Given the description of an element on the screen output the (x, y) to click on. 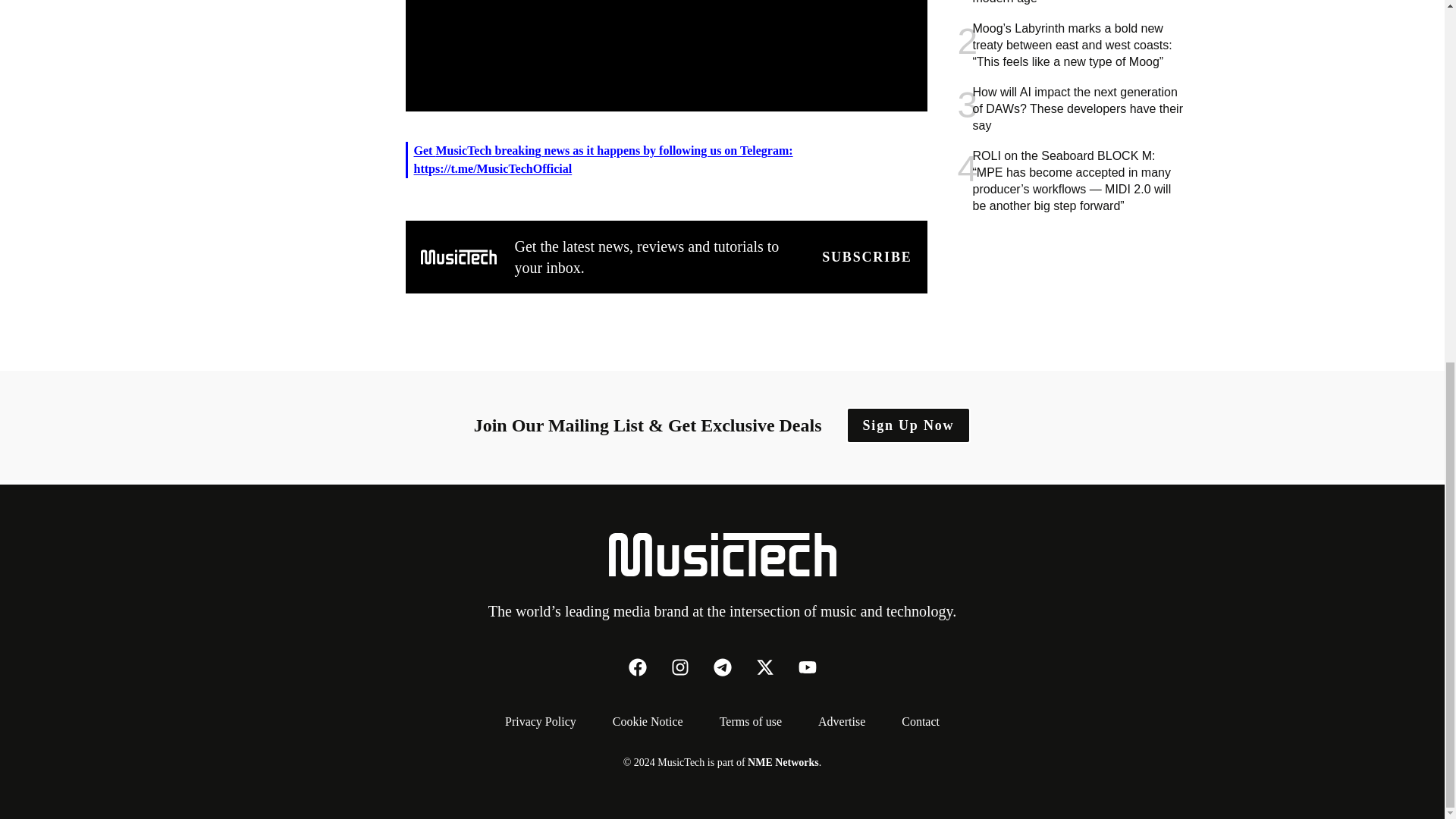
Join our mailing list (866, 256)
SUBSCRIBE (866, 256)
